Given the description of an element on the screen output the (x, y) to click on. 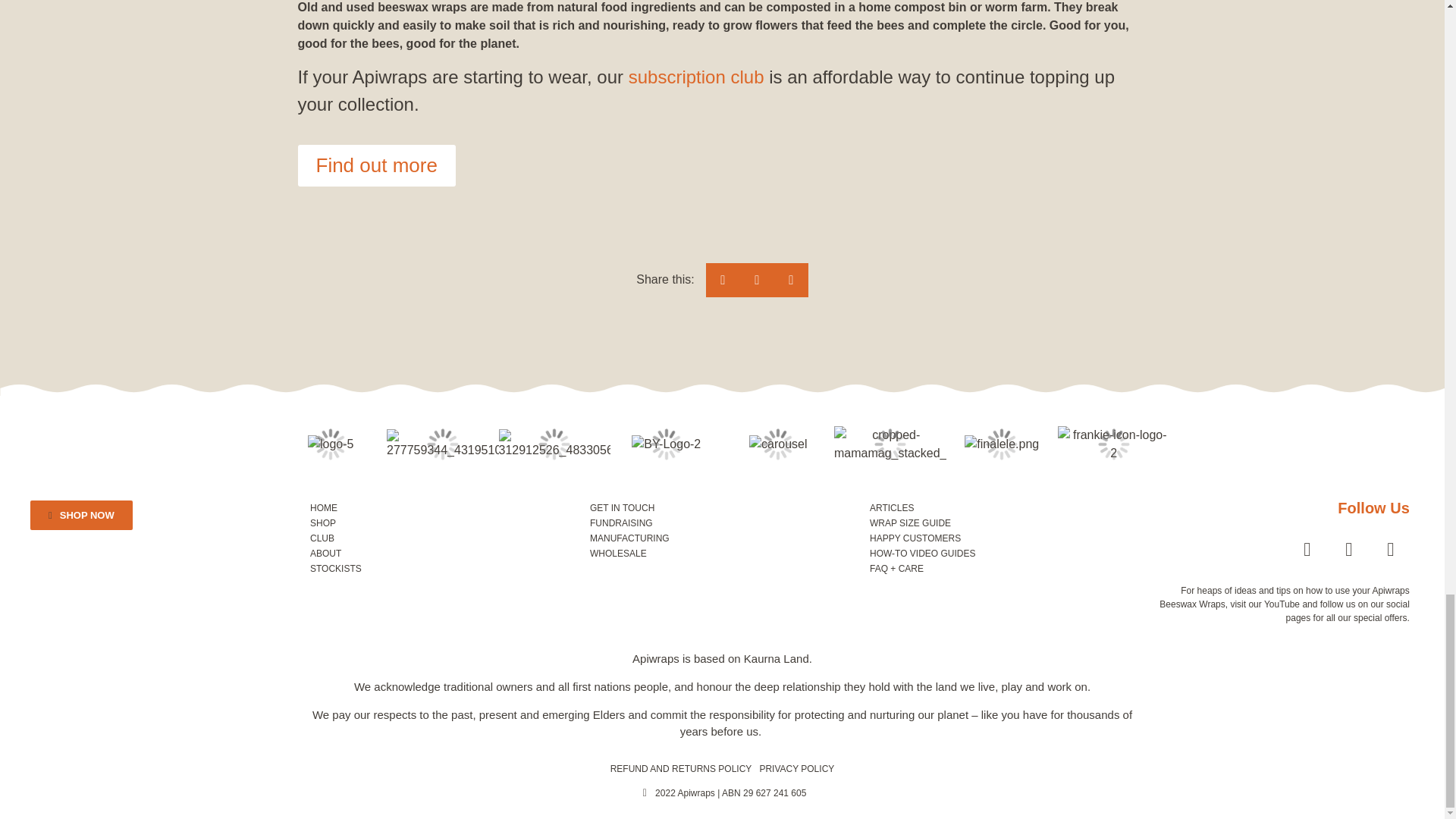
Find out more (375, 165)
HOME (442, 507)
SHOP NOW (81, 514)
subscription club (696, 76)
SHOP (442, 522)
